Given the description of an element on the screen output the (x, y) to click on. 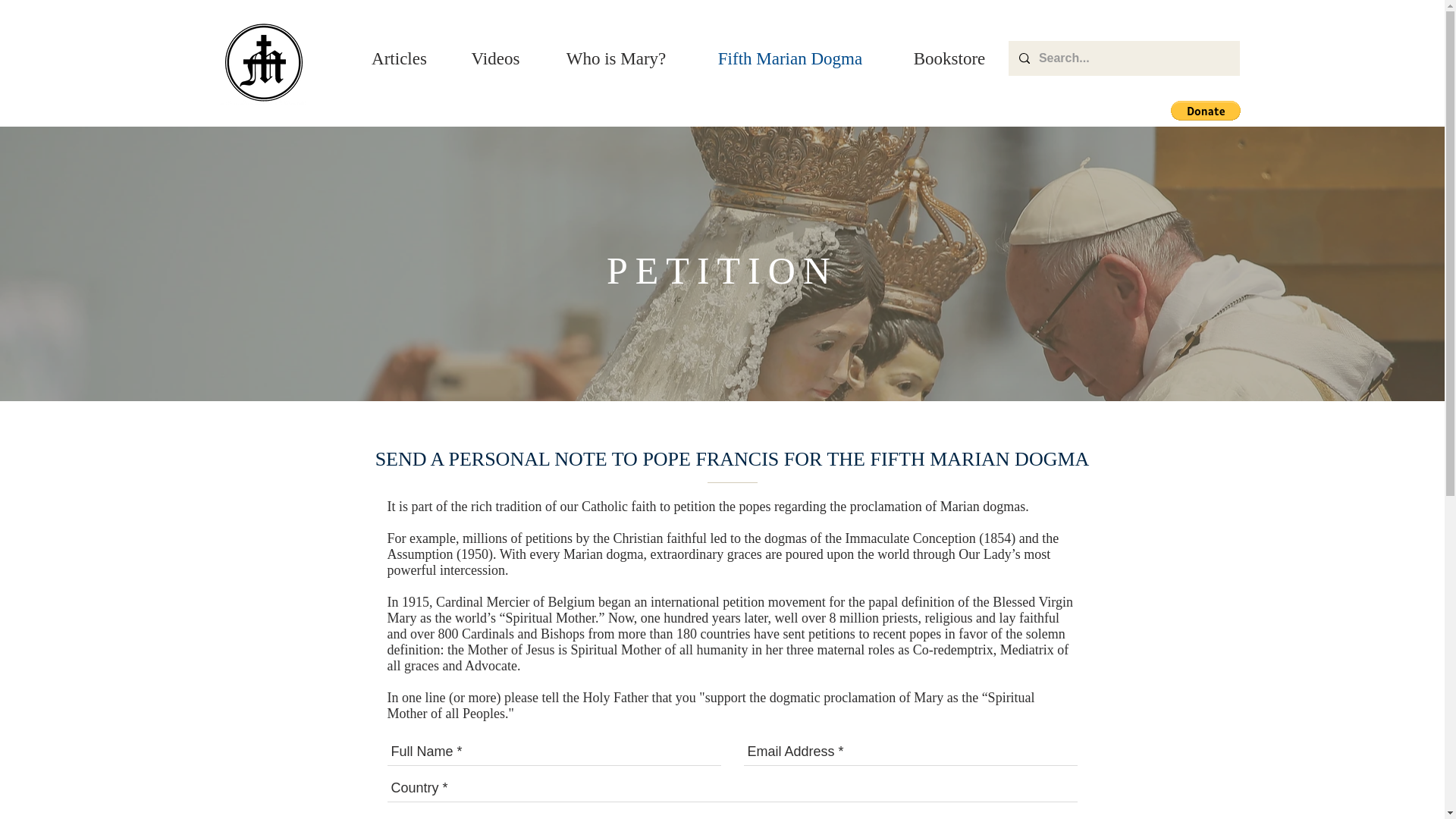
Articles (398, 57)
Fifth Marian Dogma (789, 57)
Bookstore (949, 57)
Videos (494, 57)
Who is Mary? (615, 57)
